Given the description of an element on the screen output the (x, y) to click on. 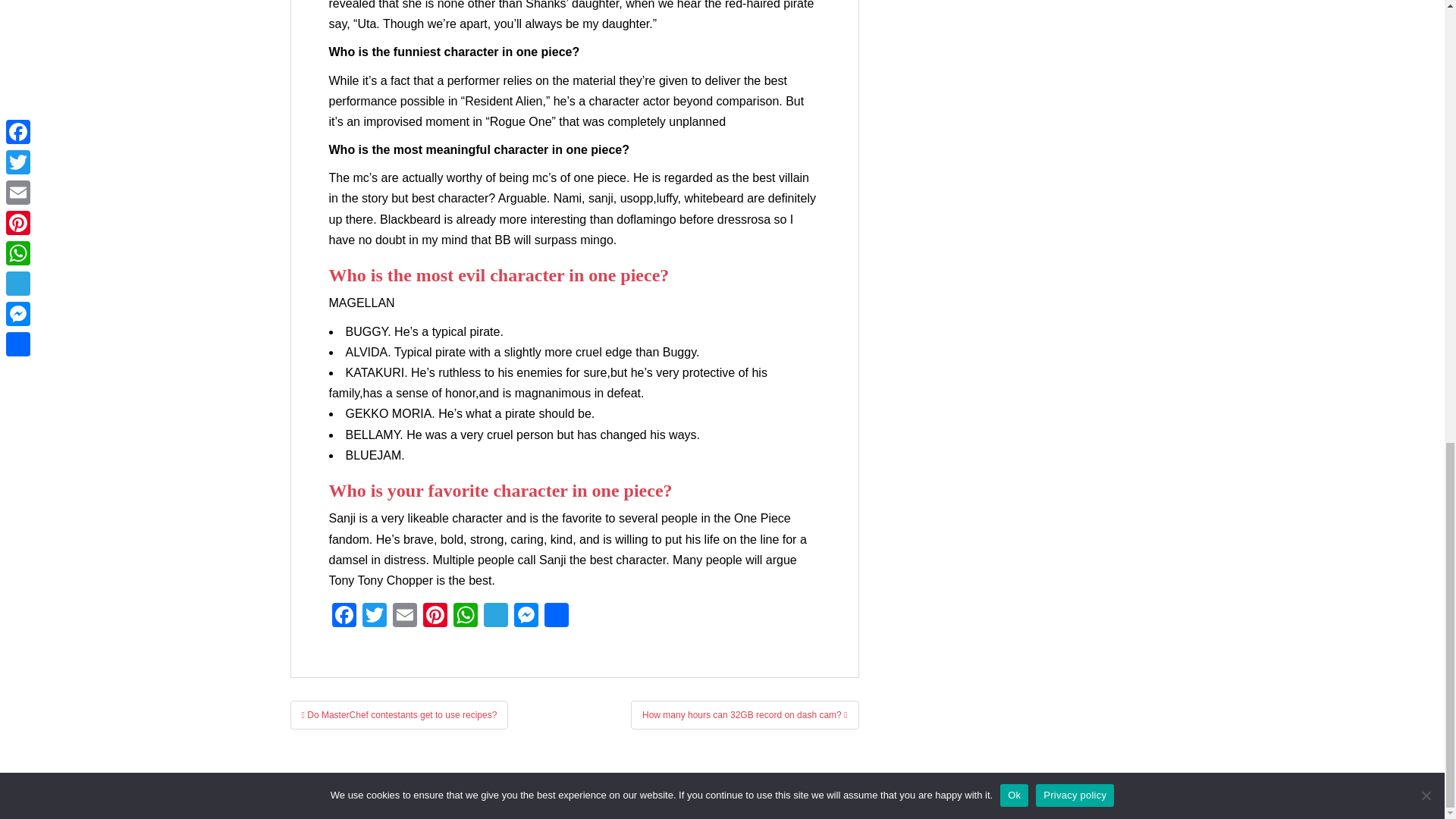
WhatsApp (464, 616)
WhatsApp (464, 616)
Twitter (374, 616)
Pinterest (434, 616)
Facebook (344, 616)
Do MasterChef contestants get to use recipes? (398, 715)
Messenger (526, 616)
Share (556, 616)
How many hours can 32GB record on dash cam? (744, 715)
Pinterest (434, 616)
Telegram (495, 616)
Email (405, 616)
Facebook (344, 616)
Twitter (374, 616)
Email (405, 616)
